Given the description of an element on the screen output the (x, y) to click on. 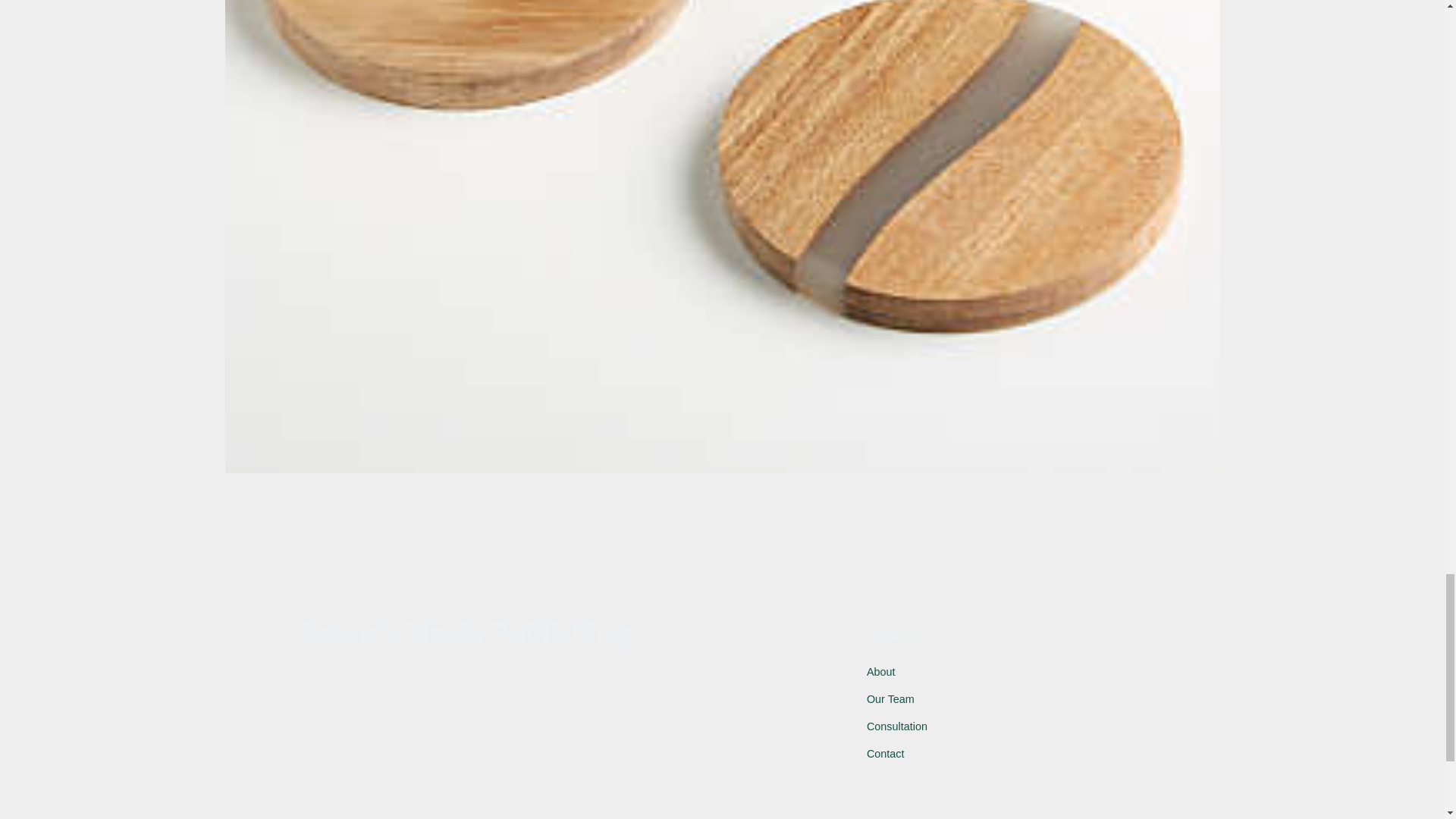
About (880, 671)
Our Team (890, 698)
Consultation (896, 726)
Contact (885, 753)
Jason's Music Publishing (463, 634)
